Given the description of an element on the screen output the (x, y) to click on. 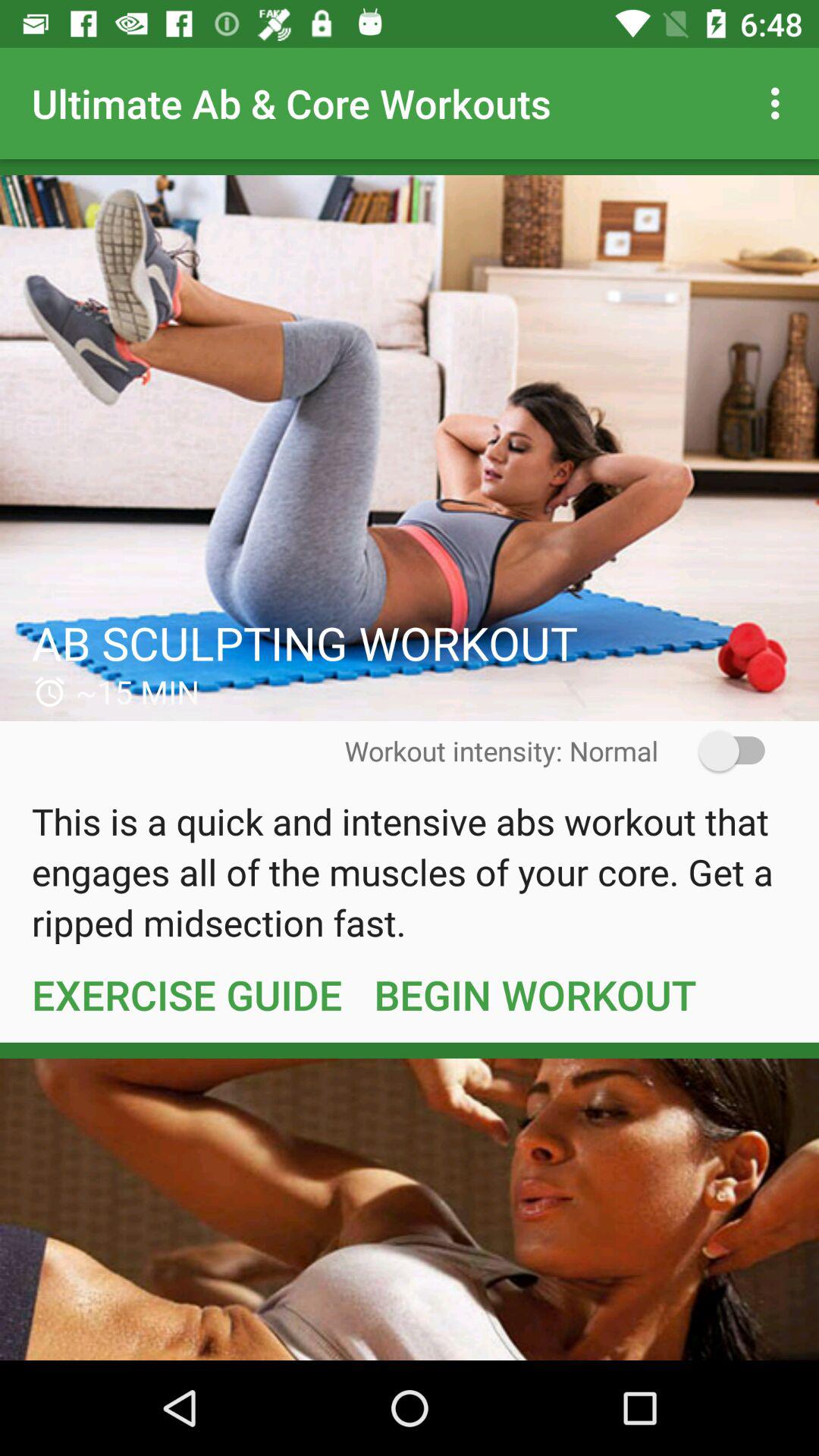
swipe until exercise guide item (186, 994)
